Given the description of an element on the screen output the (x, y) to click on. 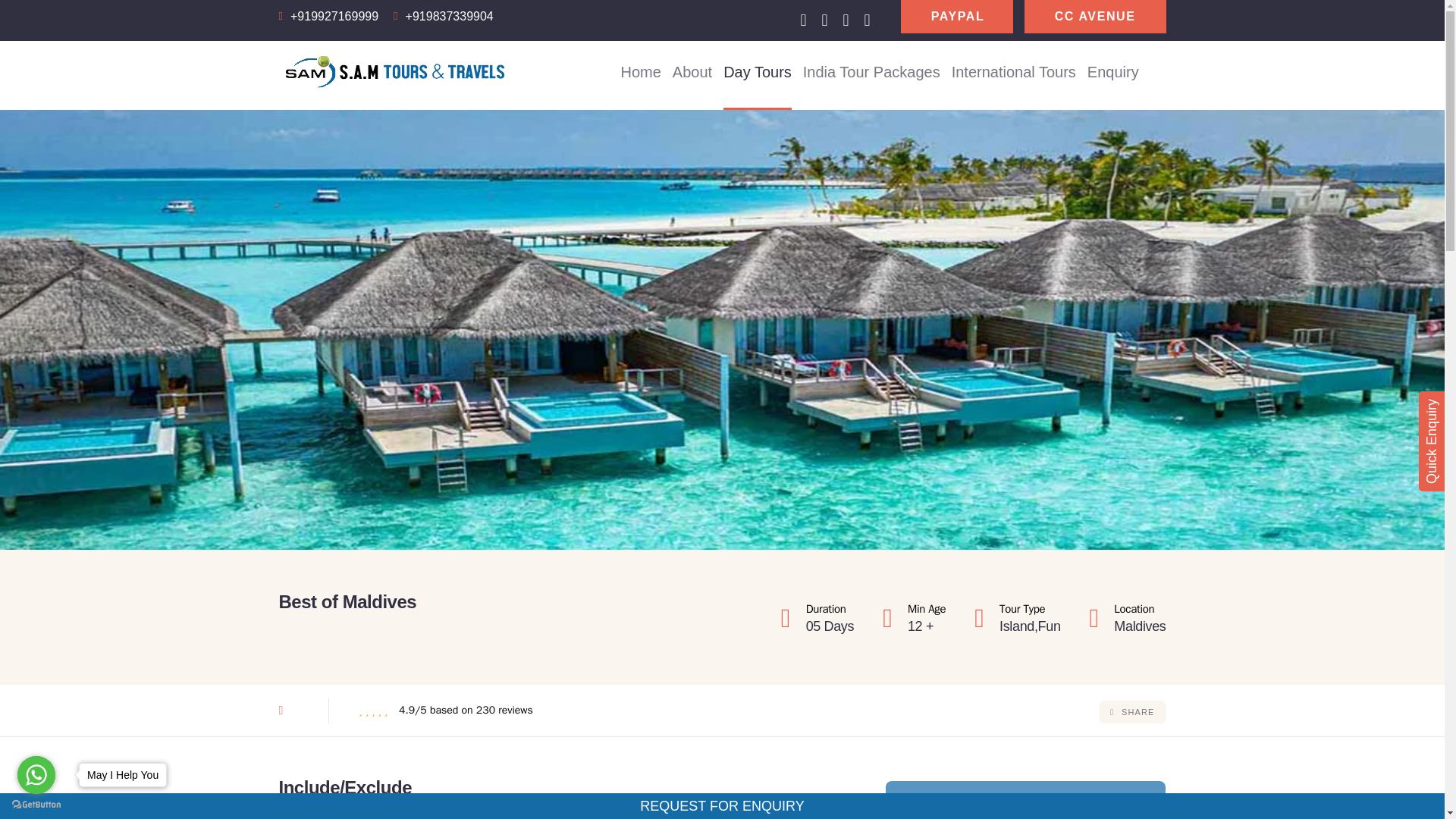
PAYPAL (957, 16)
India Tour Packages (871, 71)
CC AVENUE (1095, 16)
Day Tours (757, 71)
PAYPAL (957, 16)
Home (640, 71)
About (691, 71)
